Given the description of an element on the screen output the (x, y) to click on. 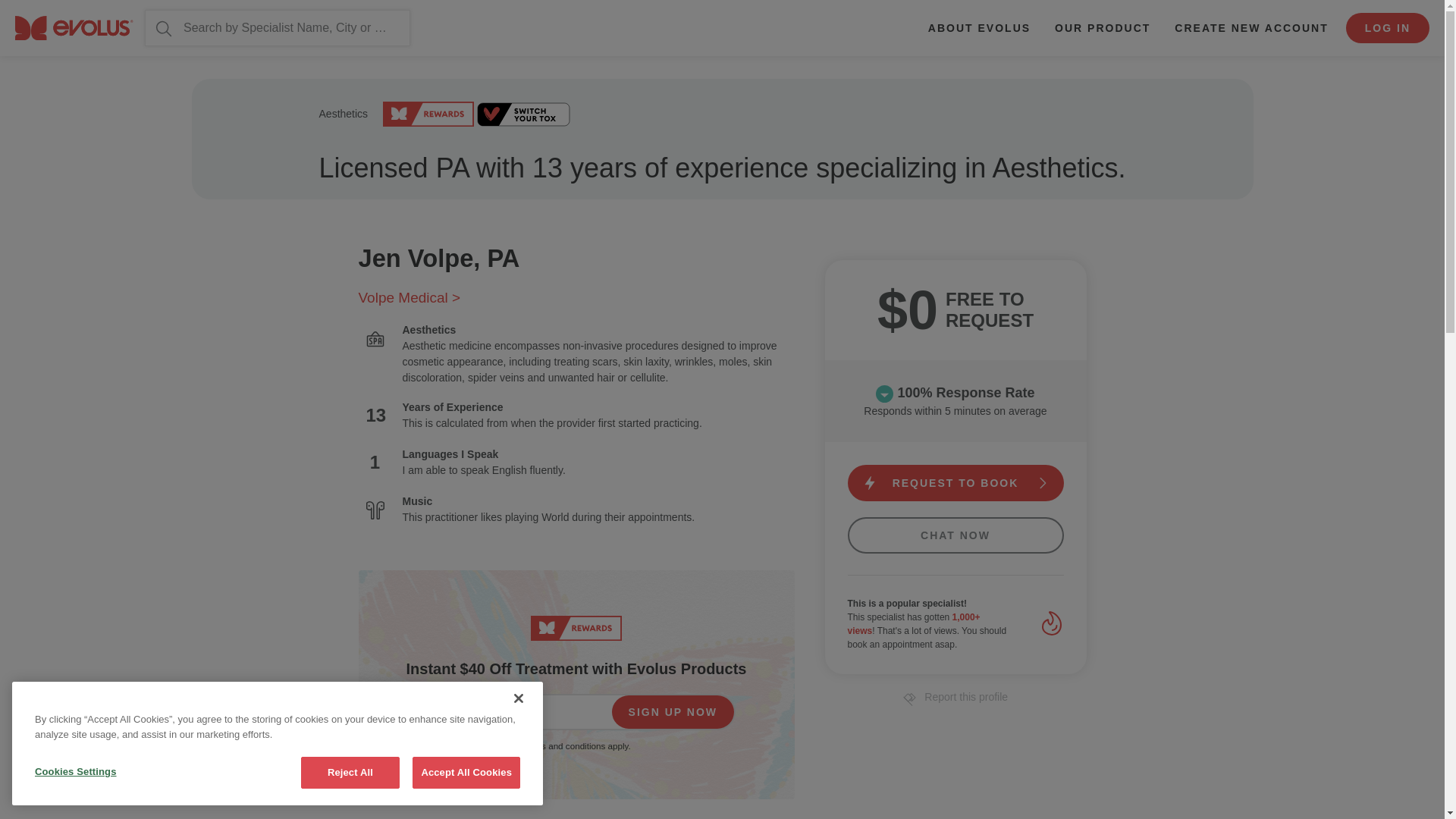
REQUEST TO BOOK (955, 483)
Sign Up Now (672, 711)
ABOUT EVOLUS (978, 27)
LOG IN (1387, 28)
Sign Up Now (672, 711)
CREATE NEW ACCOUNT (1250, 27)
OUR PRODUCT (1101, 27)
CHAT NOW (955, 534)
